Given the description of an element on the screen output the (x, y) to click on. 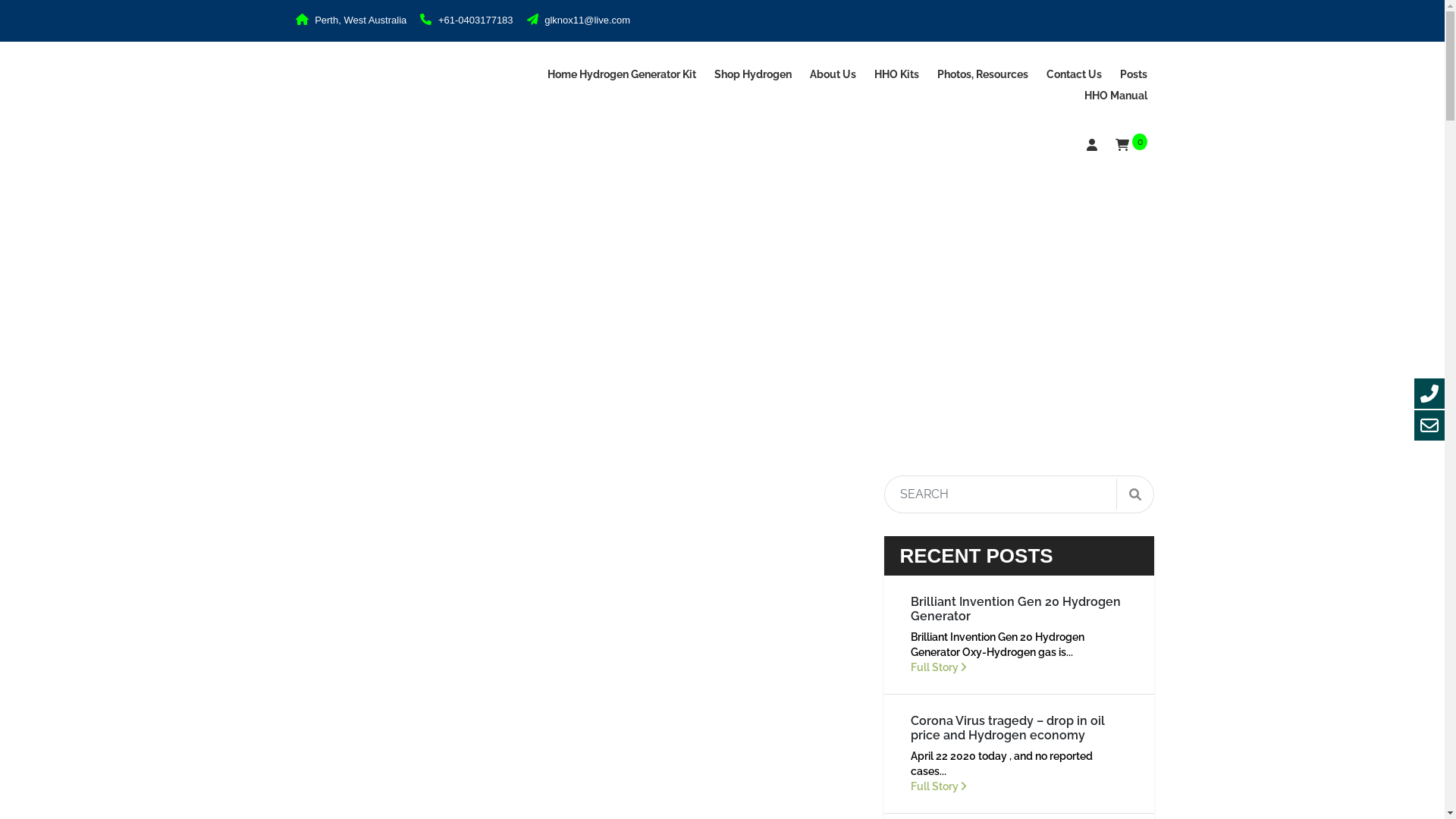
Photos, Resources Element type: text (982, 73)
Posts Element type: text (1132, 73)
HHO Kits Element type: text (895, 73)
glknox11@live.com Element type: text (578, 19)
+61-0403177183 Element type: text (466, 19)
Shop Hydrogen Element type: text (752, 73)
Home Hydrogen Generator Kit Element type: text (621, 73)
HHO Manual Element type: text (1115, 95)
0 Element type: text (1130, 145)
Full Story Element type: text (1018, 666)
About Us Element type: text (832, 73)
Contact Us Element type: text (1073, 73)
Full Story Element type: text (1018, 785)
